Given the description of an element on the screen output the (x, y) to click on. 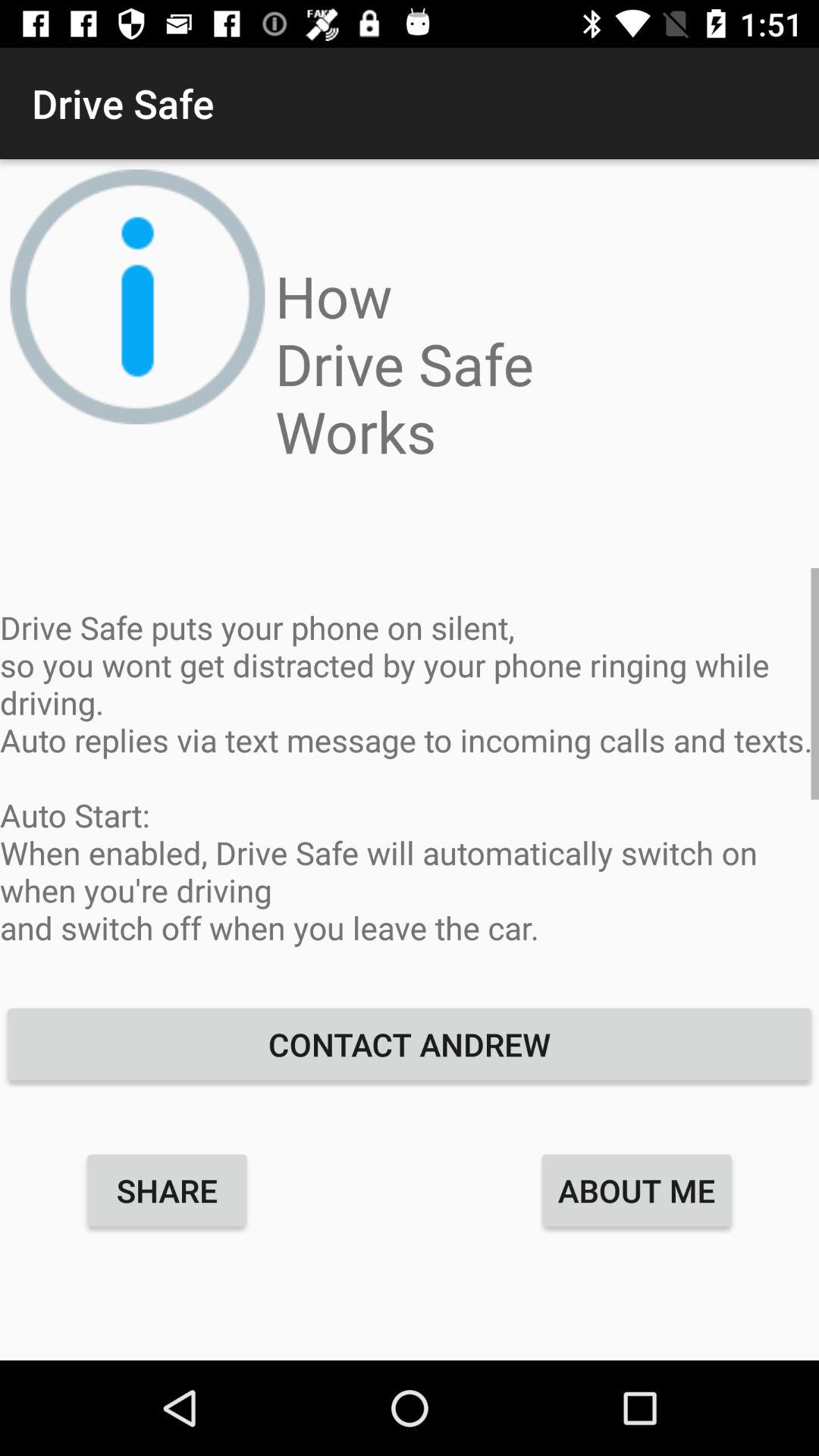
turn on the item to the right of share (636, 1190)
